Given the description of an element on the screen output the (x, y) to click on. 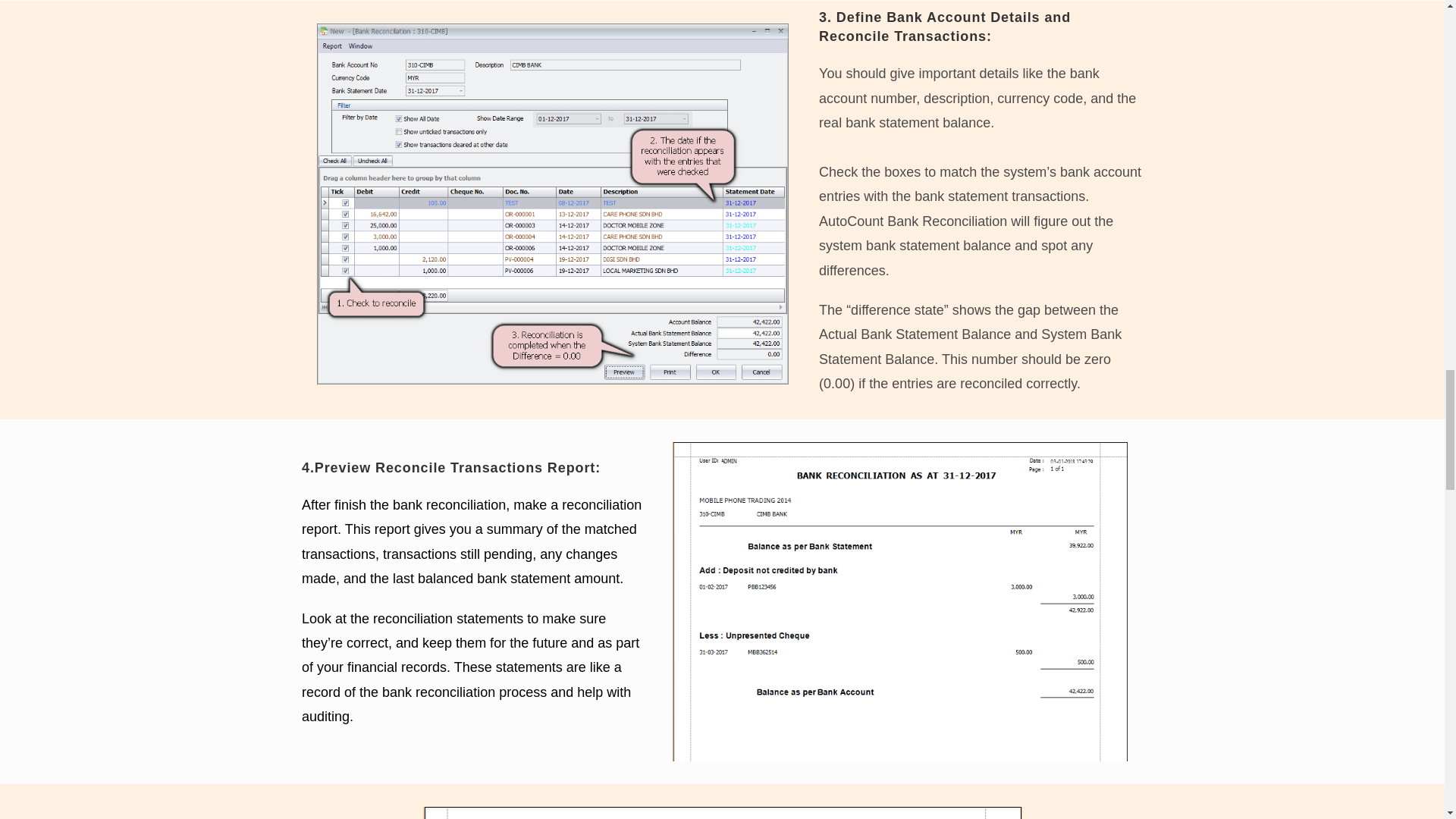
BR10 (722, 812)
